Given the description of an element on the screen output the (x, y) to click on. 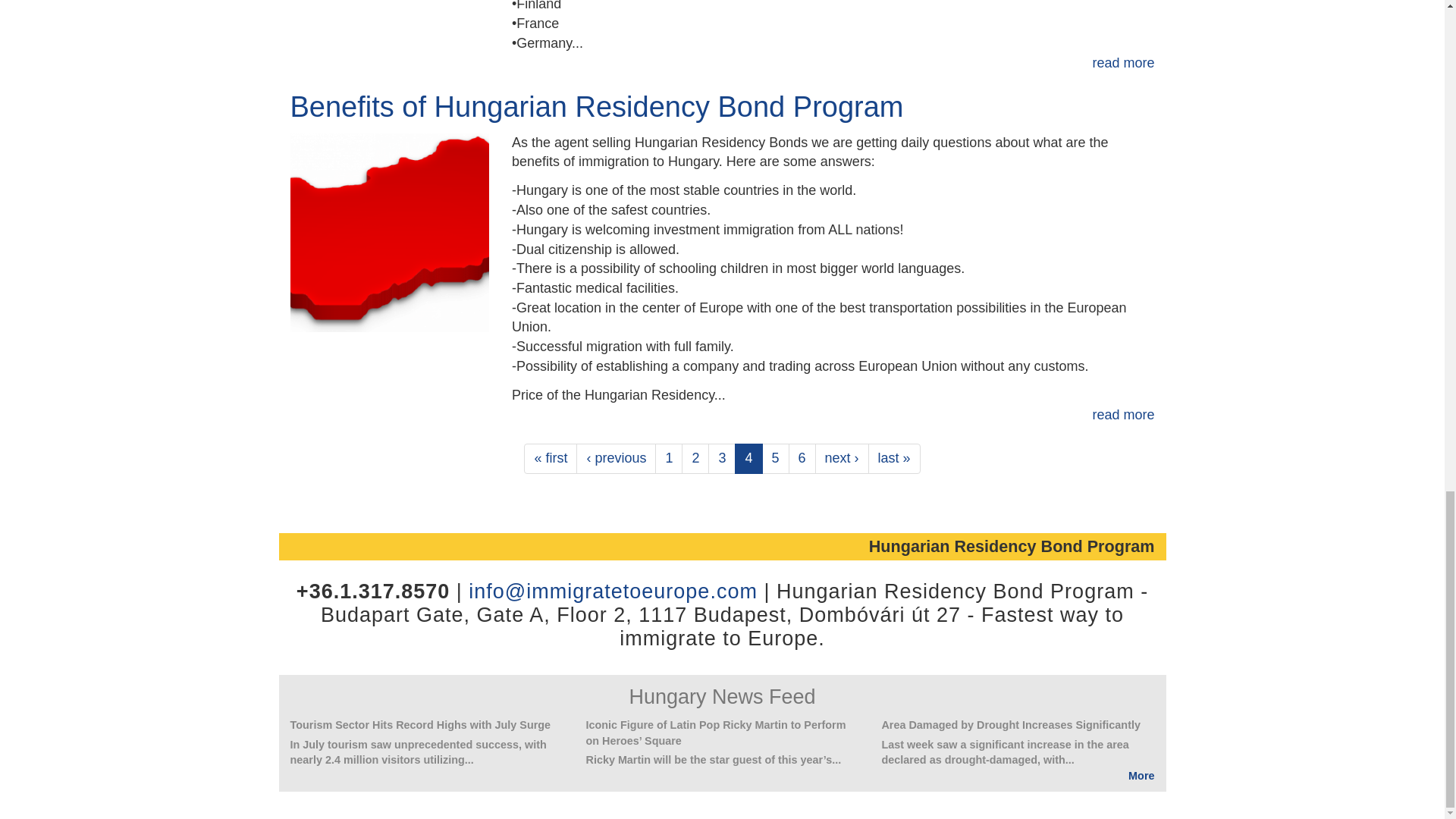
Go to last page (893, 458)
Go to next page (842, 458)
Go to previous page (616, 458)
3 (721, 458)
Go to page 6 (802, 458)
6 (802, 458)
read more (1123, 414)
1 (668, 458)
Go to page 5 (775, 458)
5 (775, 458)
